Given the description of an element on the screen output the (x, y) to click on. 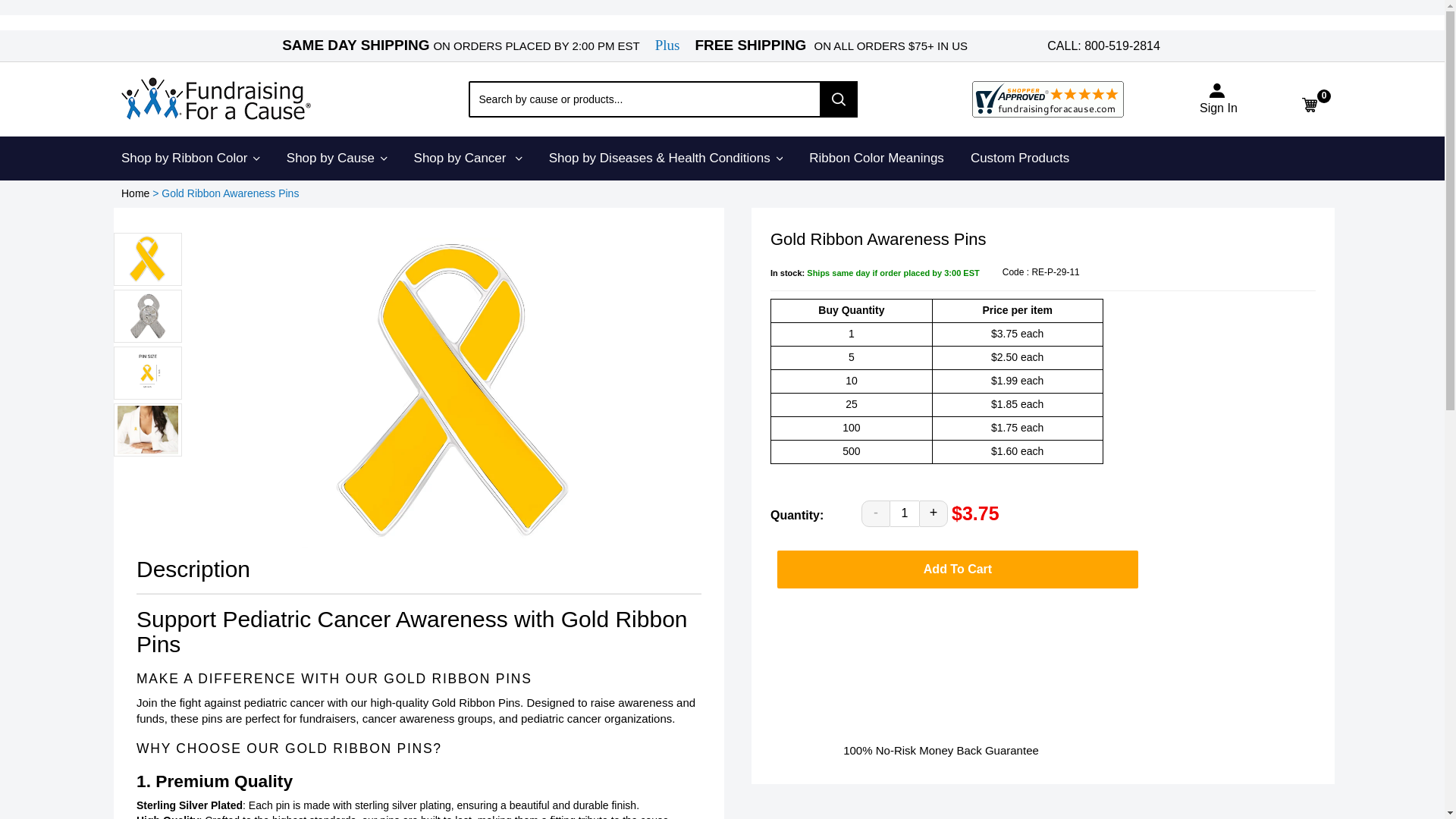
Sign In (1218, 107)
1 (903, 513)
- (875, 513)
Home (134, 193)
